Given the description of an element on the screen output the (x, y) to click on. 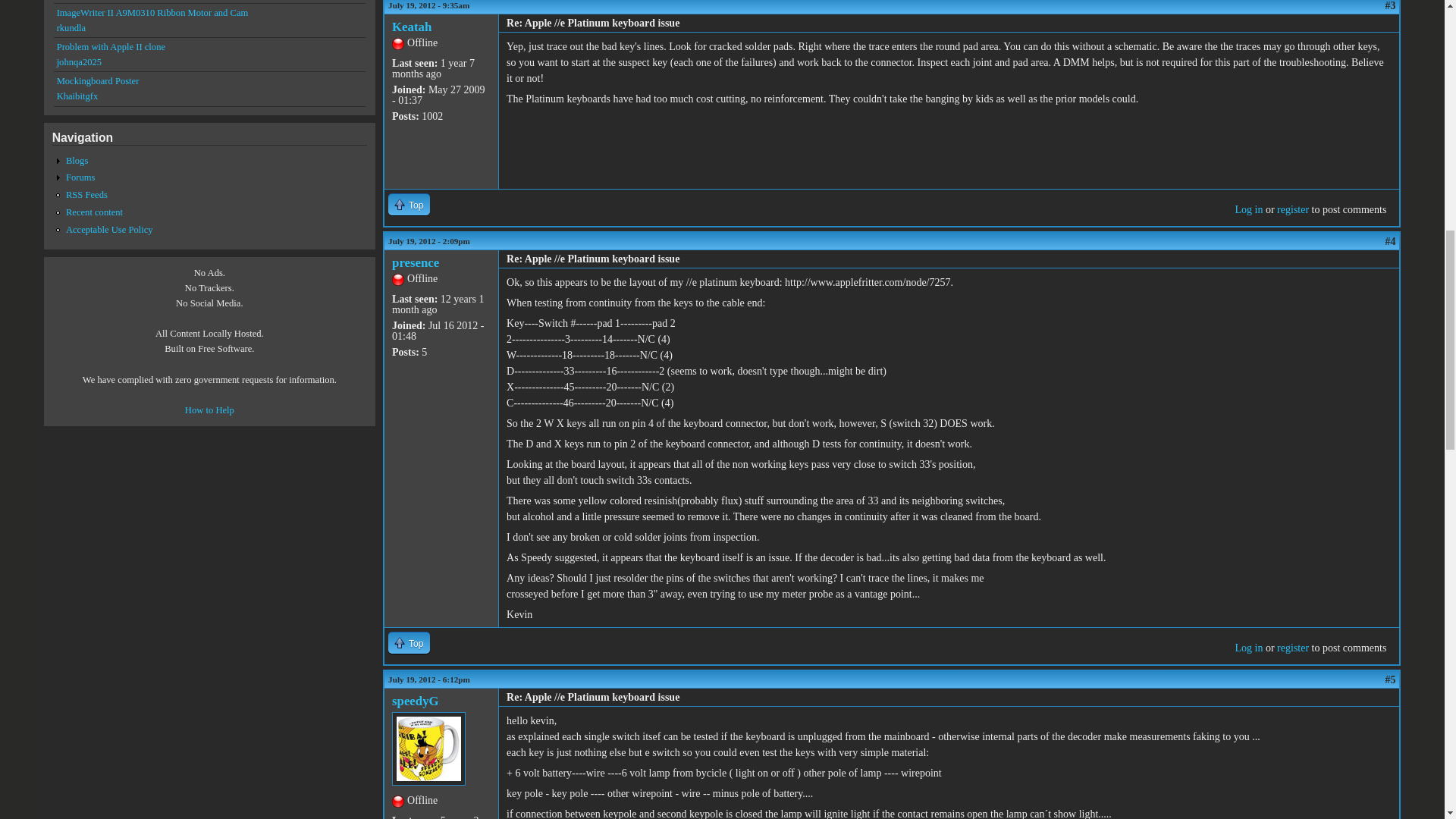
Jump to top of page (408, 642)
Top (408, 204)
Top (408, 642)
presence (415, 262)
register (1292, 647)
Log in (1248, 647)
Keatah (410, 26)
register (1292, 209)
View user profile. (415, 700)
Log in (1248, 209)
